Given the description of an element on the screen output the (x, y) to click on. 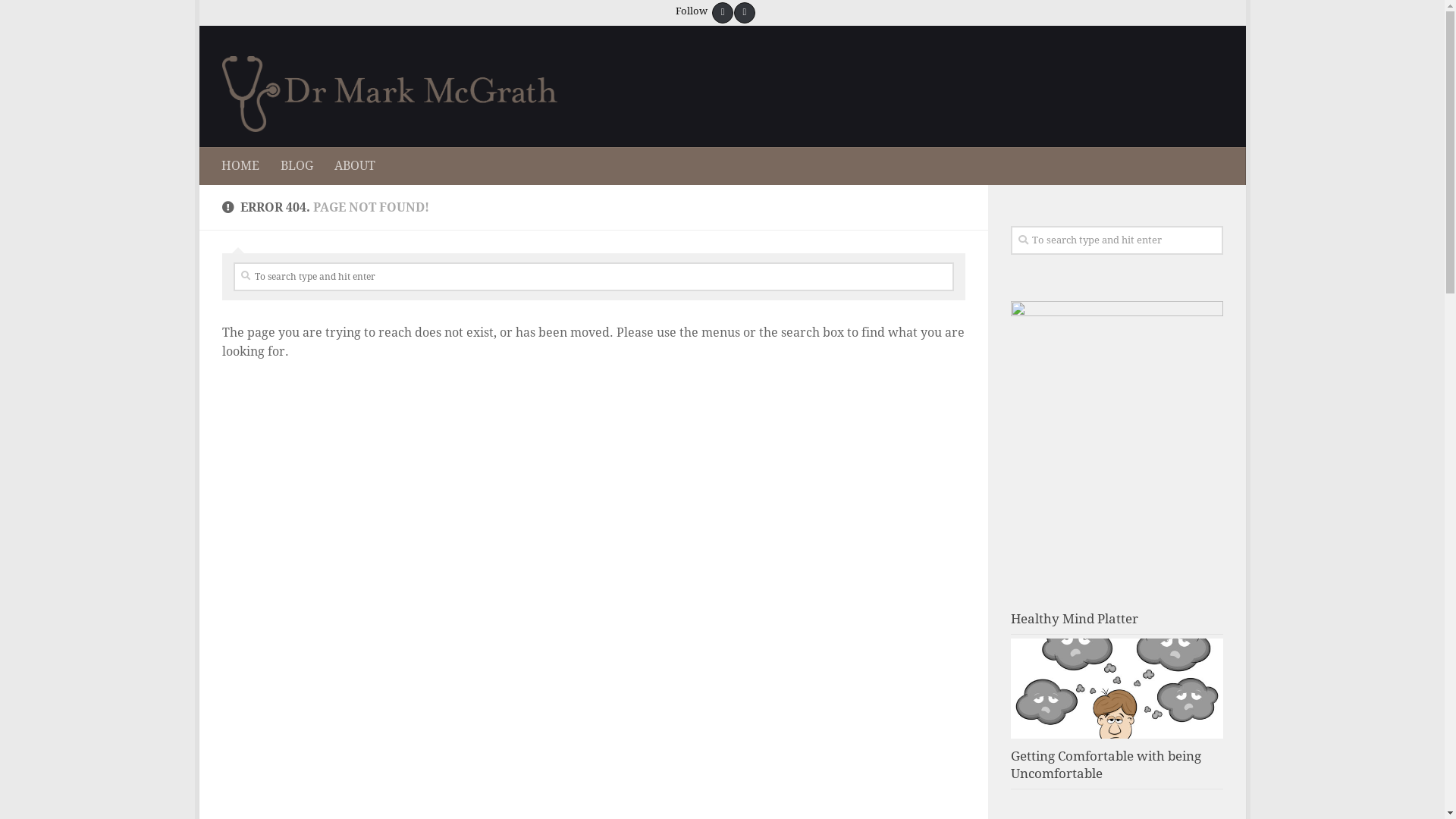
Getting Comfortable with being Uncomfortable Element type: text (1105, 764)
BLOG Element type: text (296, 166)
Healthy Mind Platter Element type: text (1073, 618)
Healthy Mind Platter Element type: hover (1116, 451)
Follow Dr Mark on Facebook Element type: hover (723, 10)
Follow Dr Mark on Twitter Element type: hover (743, 10)
Getting Comfortable with being Uncomfortable Element type: hover (1116, 688)
HOME Element type: text (239, 166)
Dr Mark McGrath | Home page Element type: hover (389, 93)
ABOUT Element type: text (354, 166)
